Given the description of an element on the screen output the (x, y) to click on. 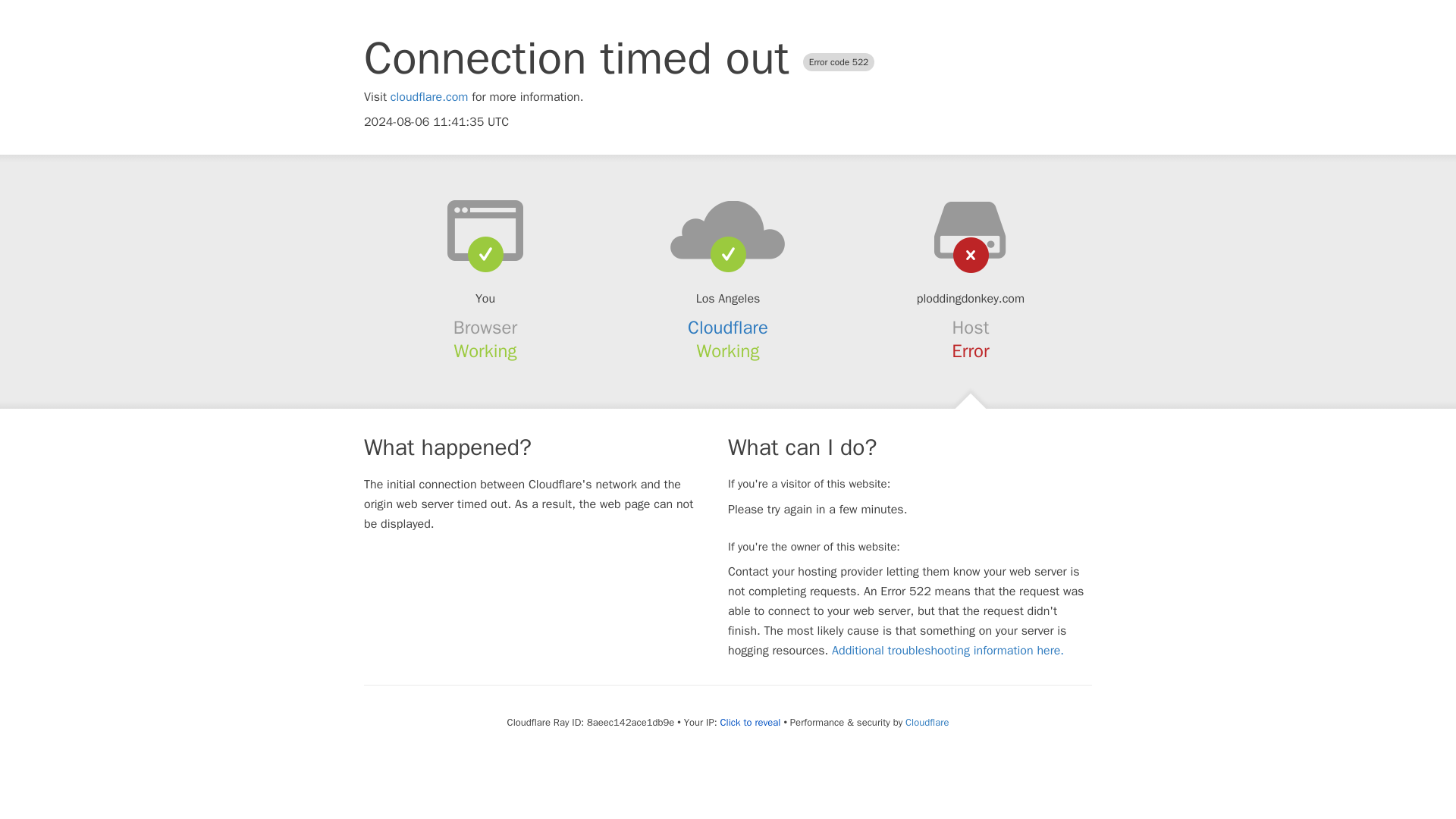
cloudflare.com (429, 96)
Click to reveal (750, 722)
Cloudflare (927, 721)
Additional troubleshooting information here. (947, 650)
Cloudflare (727, 327)
